Given the description of an element on the screen output the (x, y) to click on. 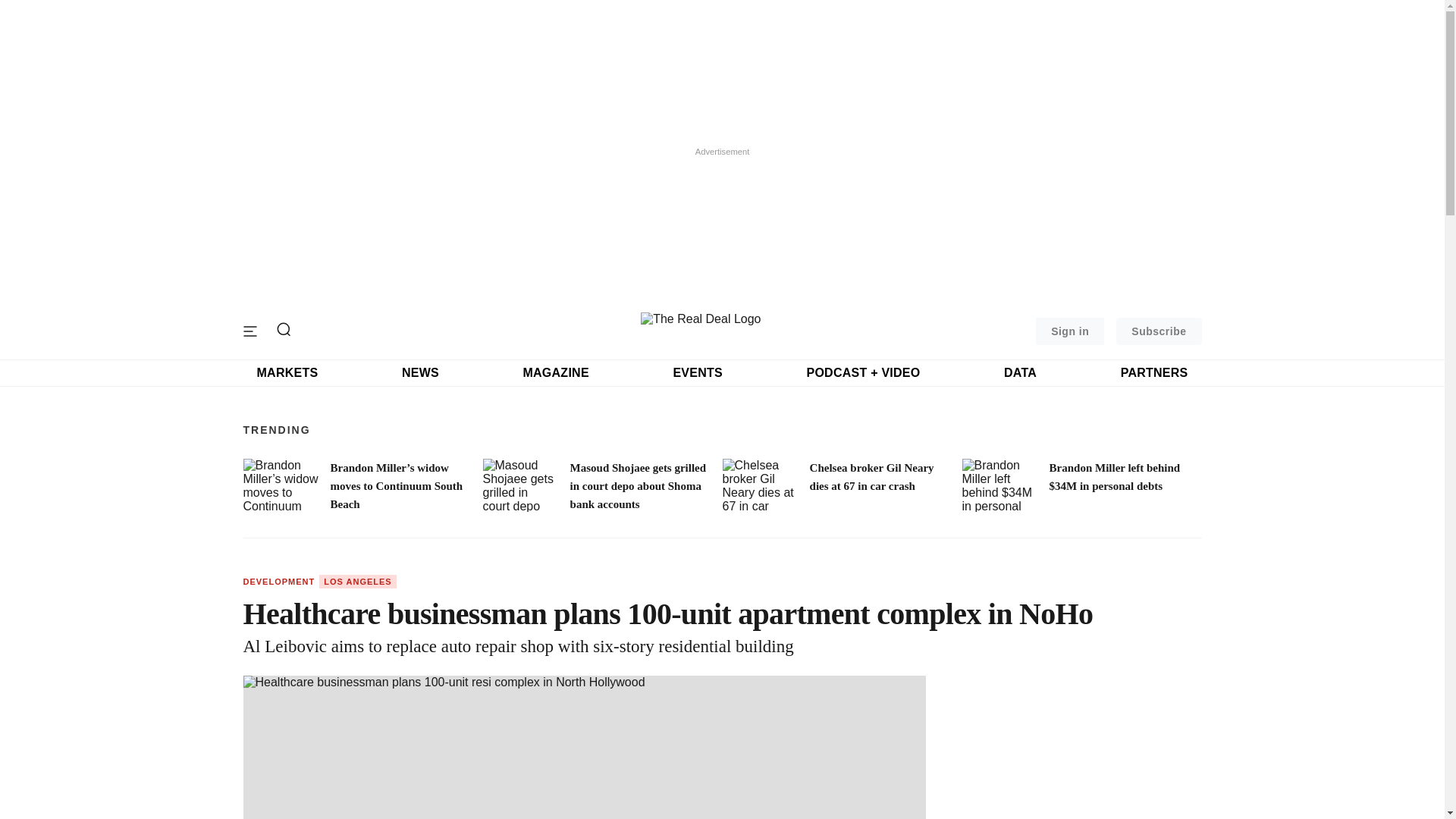
MAGAZINE (555, 373)
Sign in (1069, 330)
NEWS (420, 373)
EVENTS (697, 373)
MARKETS (286, 373)
Subscribe (1158, 330)
